Given the description of an element on the screen output the (x, y) to click on. 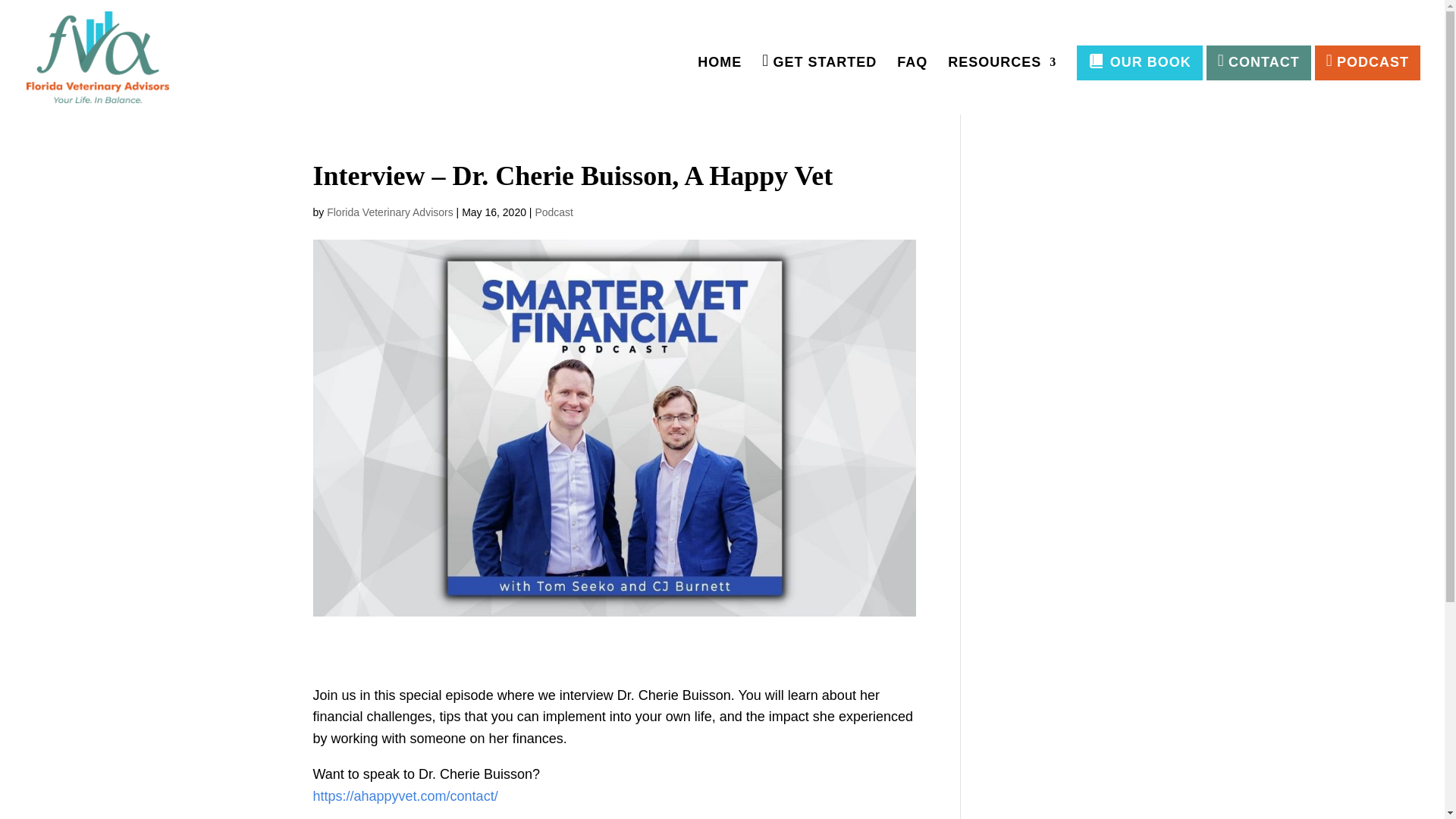
OUR BOOK (1139, 62)
CONTACT (1259, 62)
RESOURCES (1002, 84)
PODCAST (1367, 62)
Posts by Florida Veterinary Advisors (389, 212)
Florida Veterinary Advisors (389, 212)
GET STARTED (818, 85)
Podcast (553, 212)
